Given the description of an element on the screen output the (x, y) to click on. 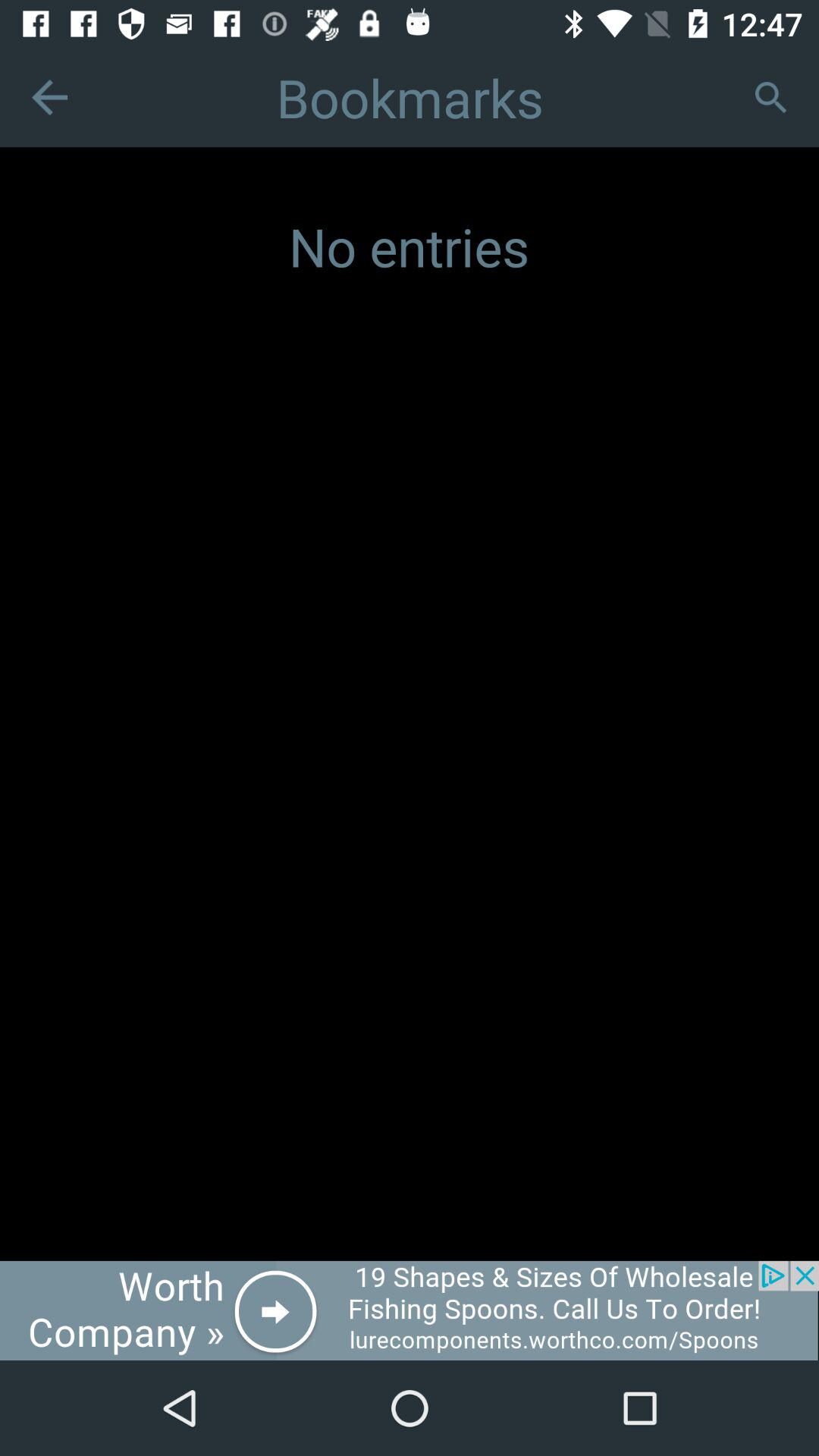
open advertisement (409, 1310)
